Given the description of an element on the screen output the (x, y) to click on. 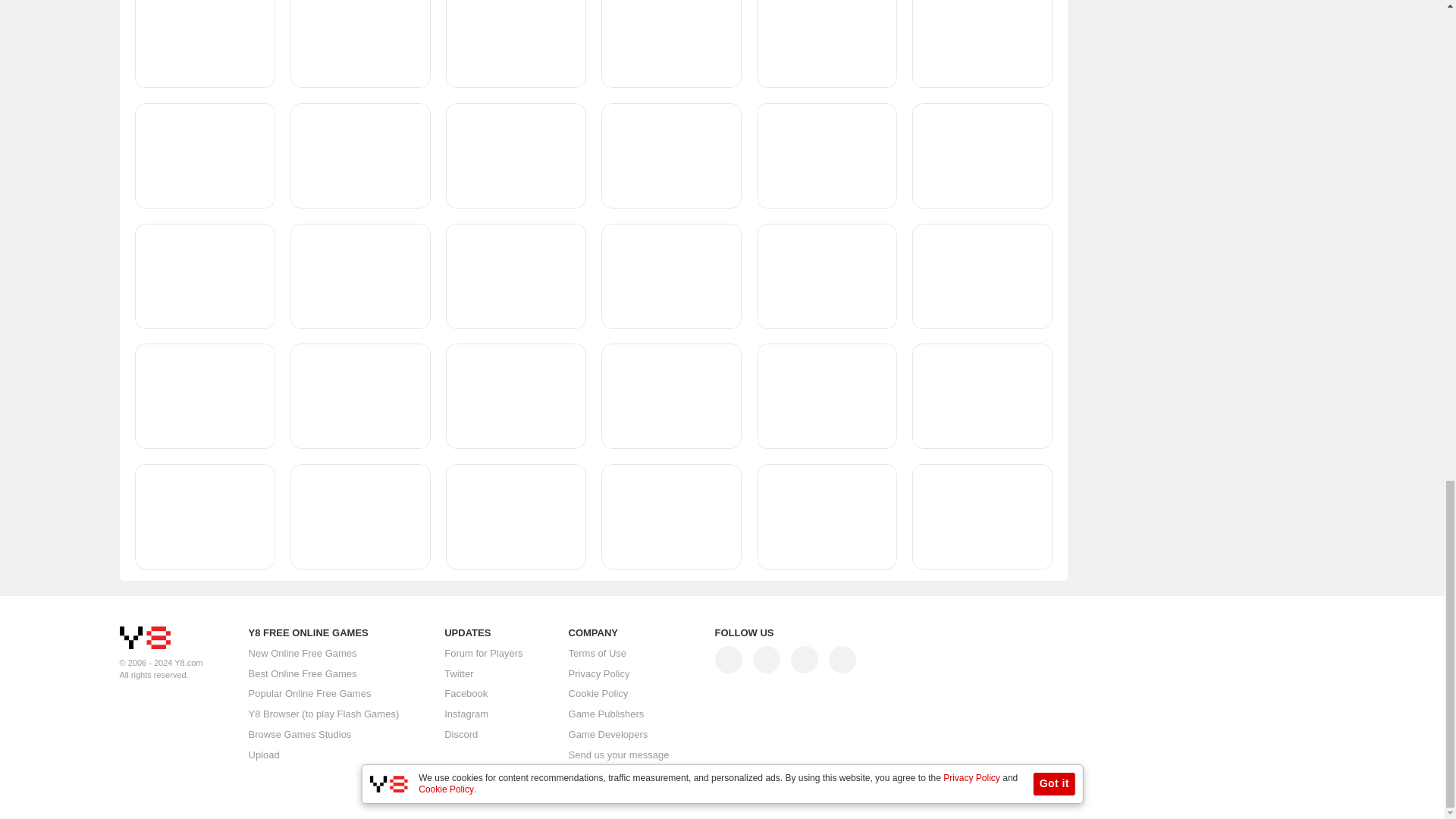
Terms of Use (598, 653)
Privacy Policy (599, 673)
Cookie Policy (598, 693)
